Given the description of an element on the screen output the (x, y) to click on. 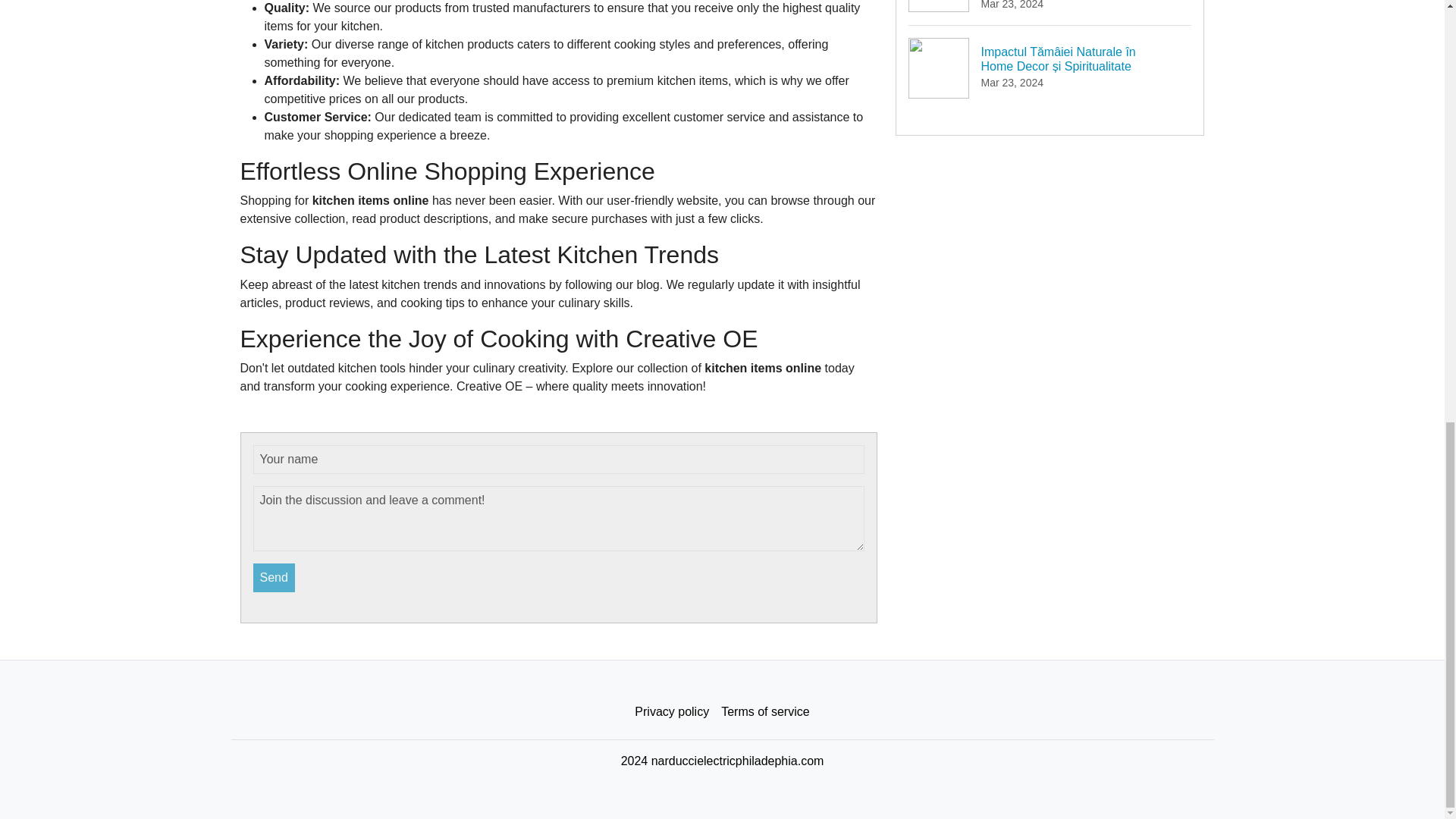
Send (274, 577)
Send (274, 577)
Privacy policy (671, 711)
Terms of service (764, 711)
